Given the description of an element on the screen output the (x, y) to click on. 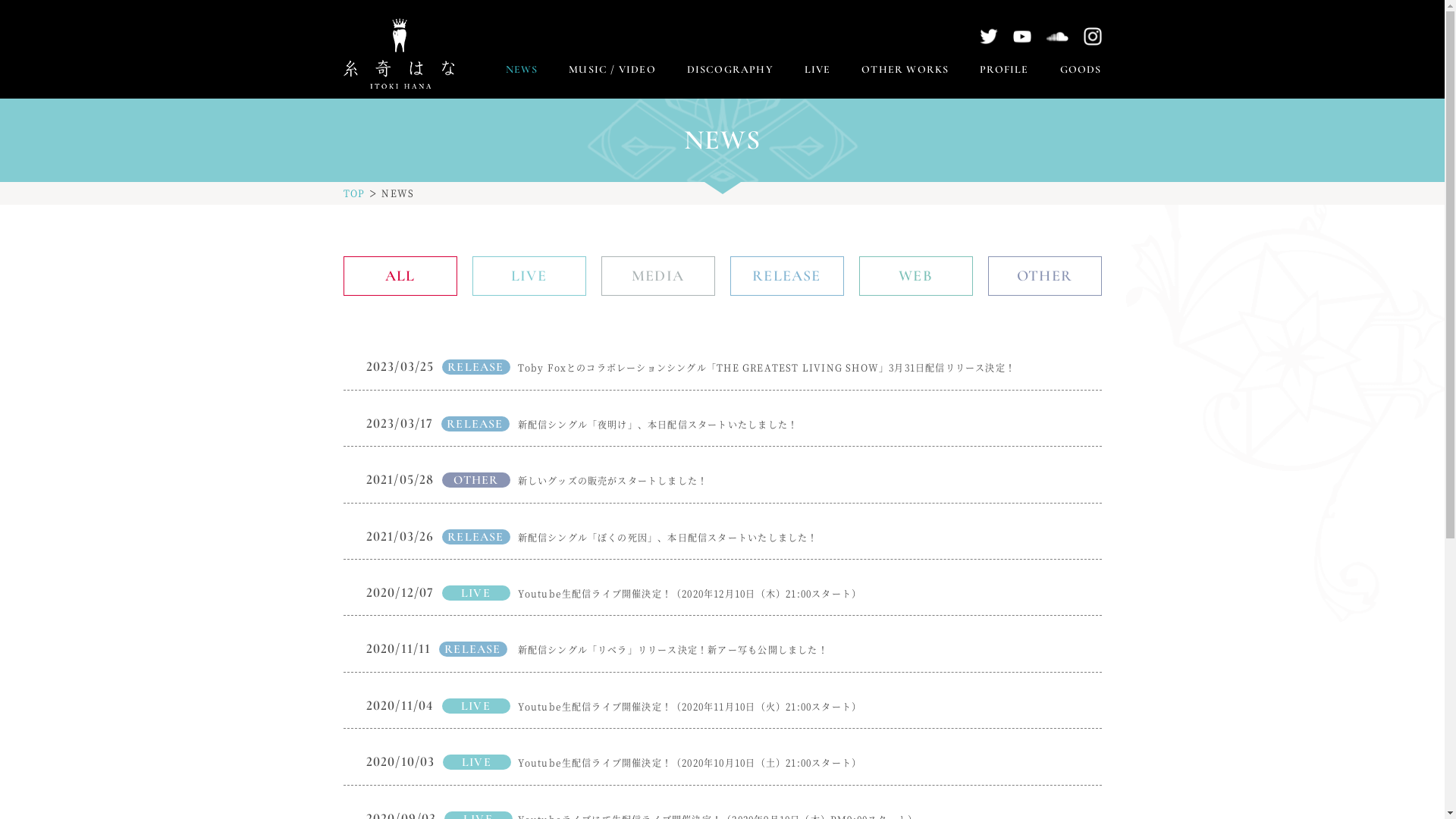
LIVE Element type: text (528, 275)
WEB Element type: text (915, 275)
OTHER WORKS Element type: text (904, 68)
RELEASE Element type: text (786, 275)
MEDIA Element type: text (657, 275)
PROFILE Element type: text (1003, 68)
ALL Element type: text (399, 275)
MUSIC / VIDEO Element type: text (611, 68)
LIVE Element type: text (817, 68)
OTHER Element type: text (1044, 275)
DISCOGRAPHY Element type: text (730, 68)
NEWS Element type: text (521, 68)
GOODS Element type: text (1080, 68)
TOP Element type: text (353, 192)
